Given the description of an element on the screen output the (x, y) to click on. 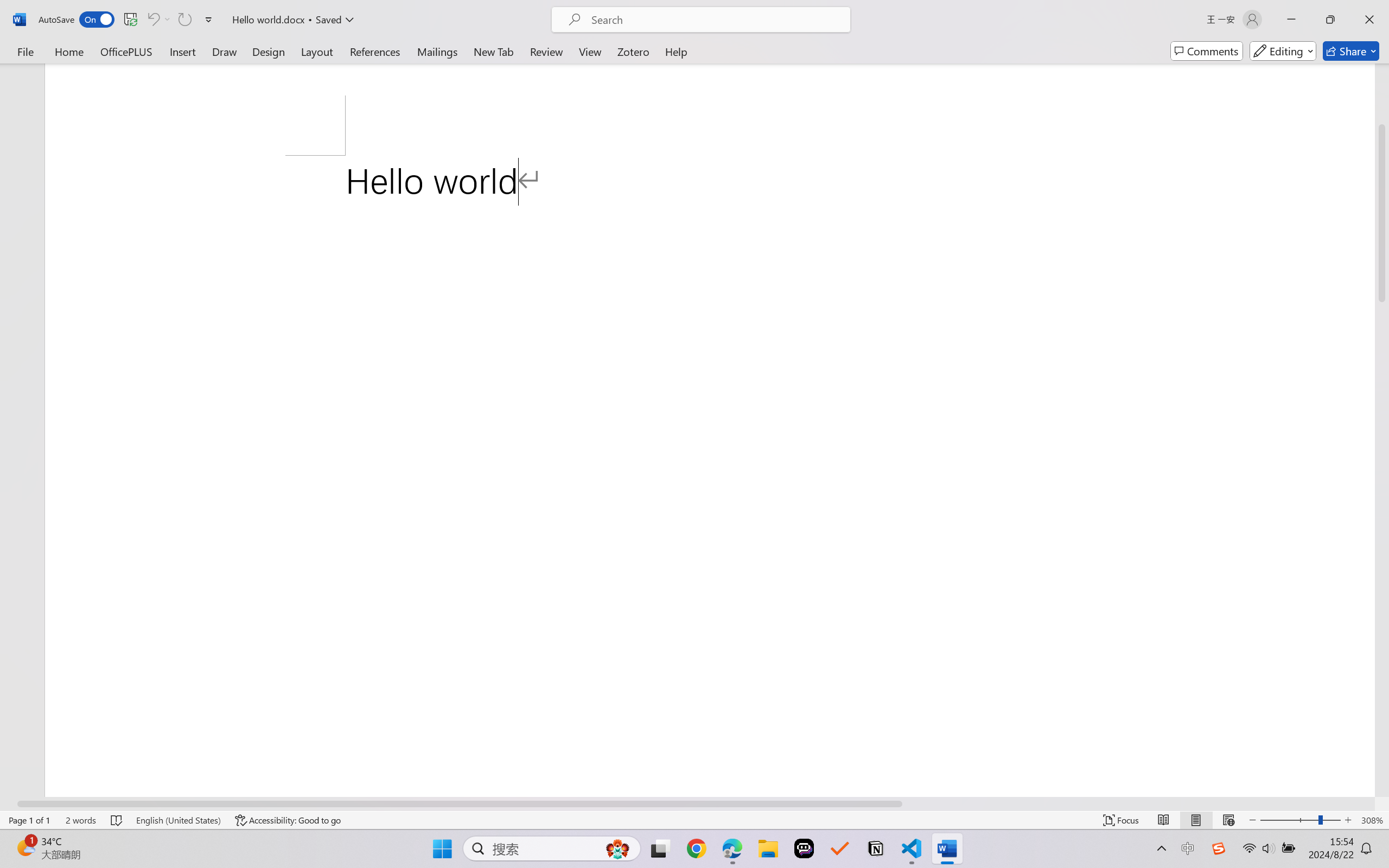
Zoom 308% (1372, 819)
Read Mode (1163, 819)
Home (69, 51)
References (375, 51)
Comments (1206, 50)
Page 1 content (709, 475)
Class: Image (1218, 847)
